Given the description of an element on the screen output the (x, y) to click on. 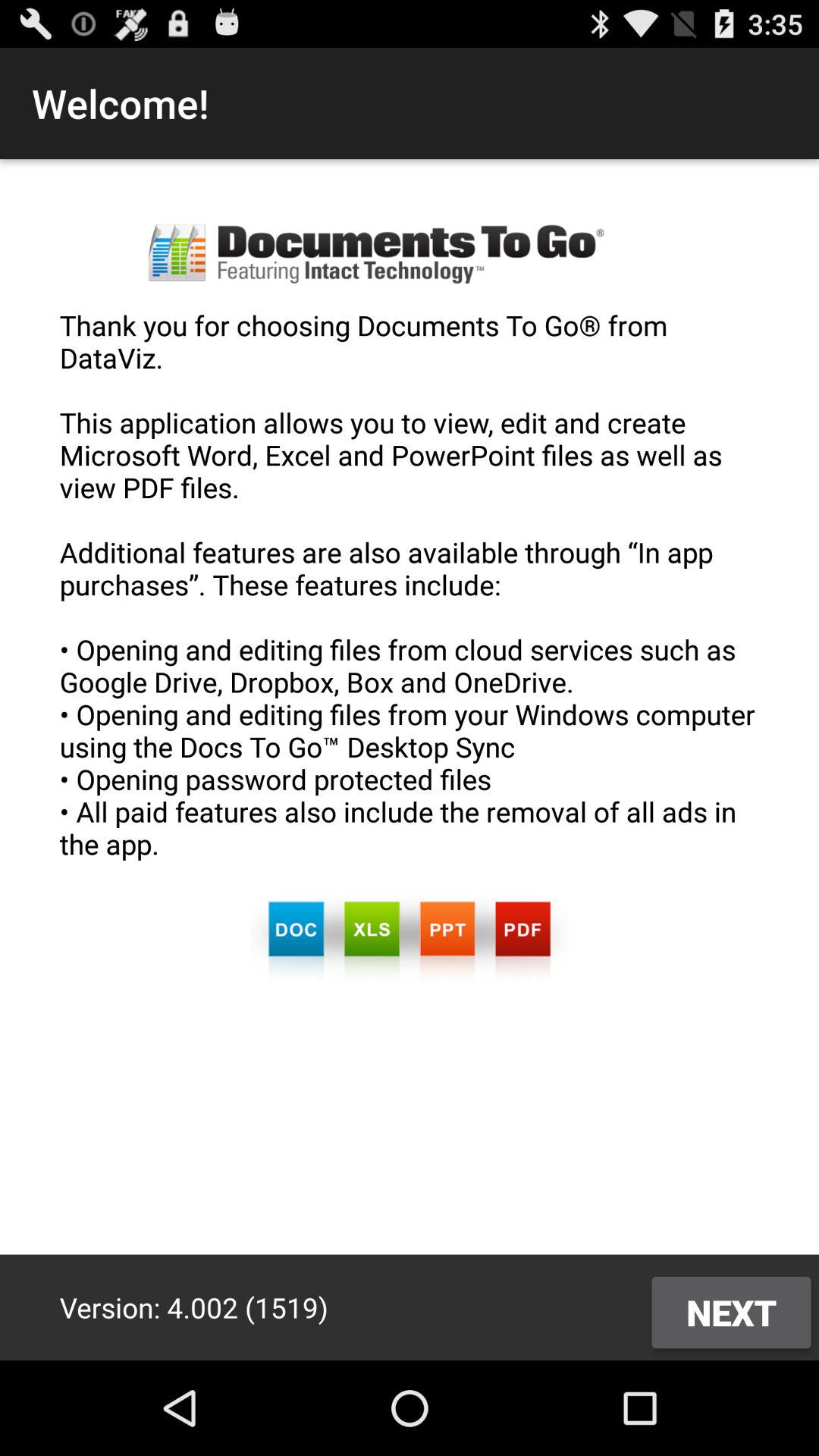
jump to next (731, 1312)
